Given the description of an element on the screen output the (x, y) to click on. 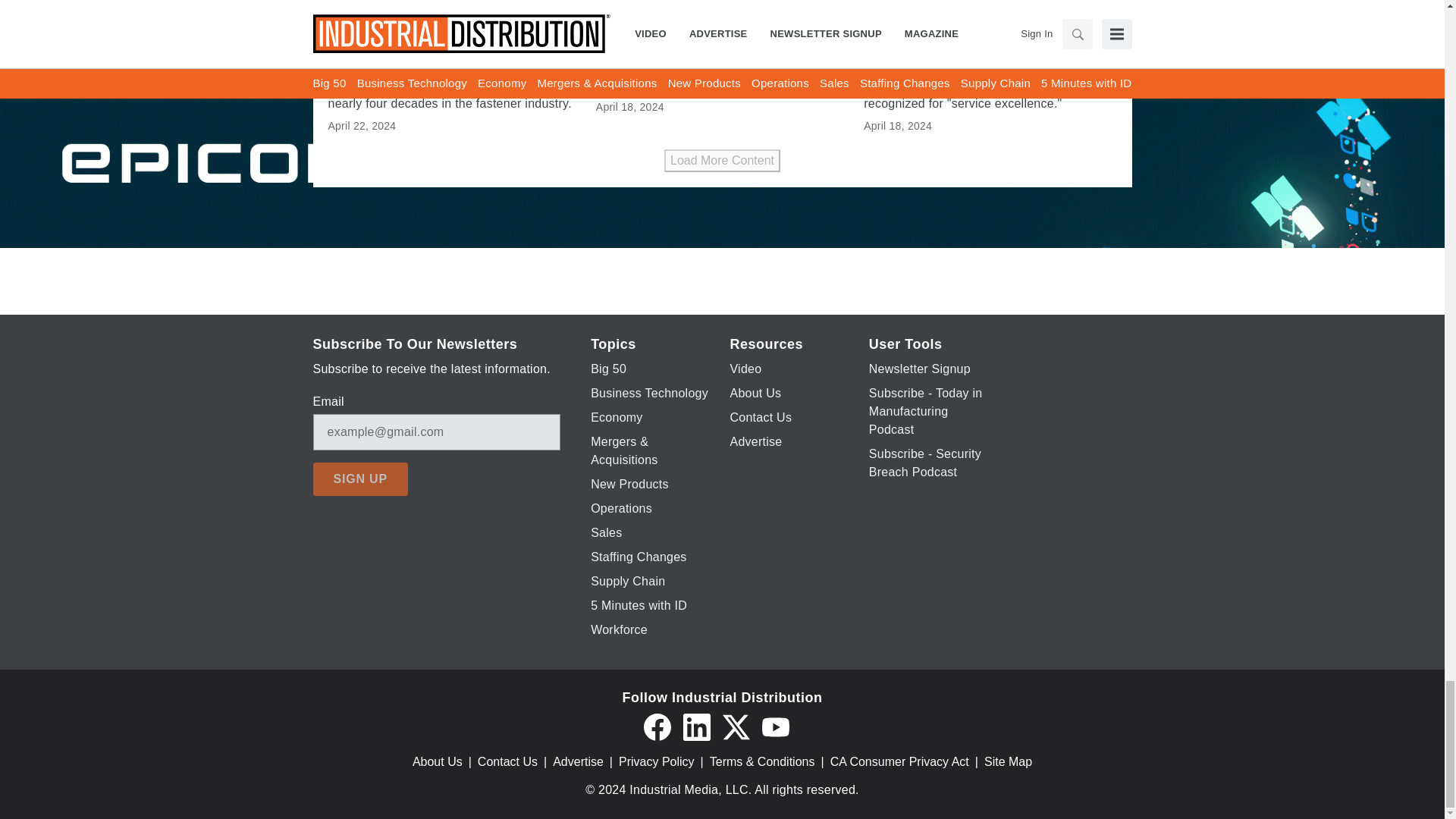
Twitter X icon (735, 727)
LinkedIn icon (696, 727)
YouTube icon (775, 727)
Facebook icon (656, 727)
